Given the description of an element on the screen output the (x, y) to click on. 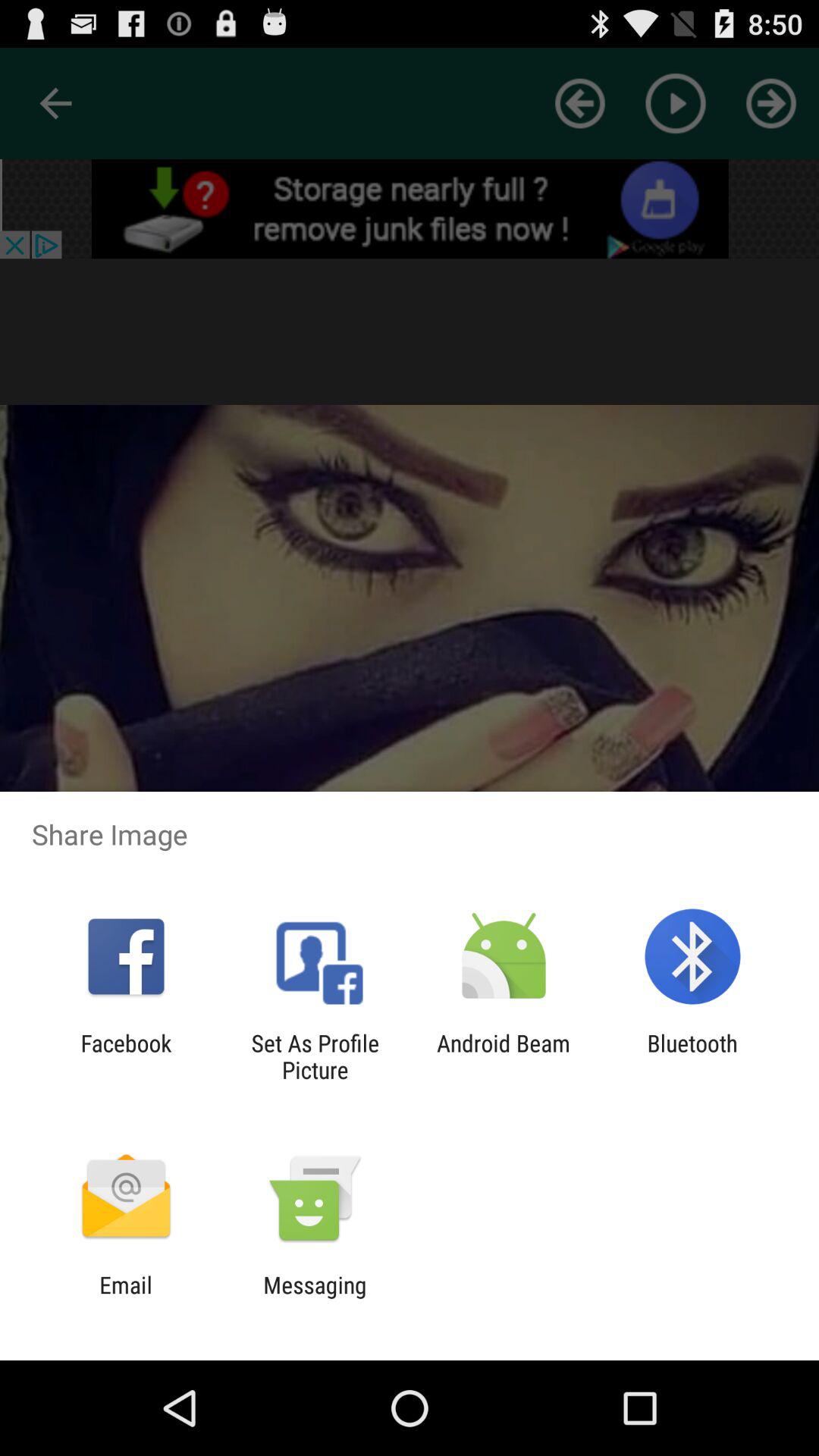
scroll to messaging app (314, 1298)
